Given the description of an element on the screen output the (x, y) to click on. 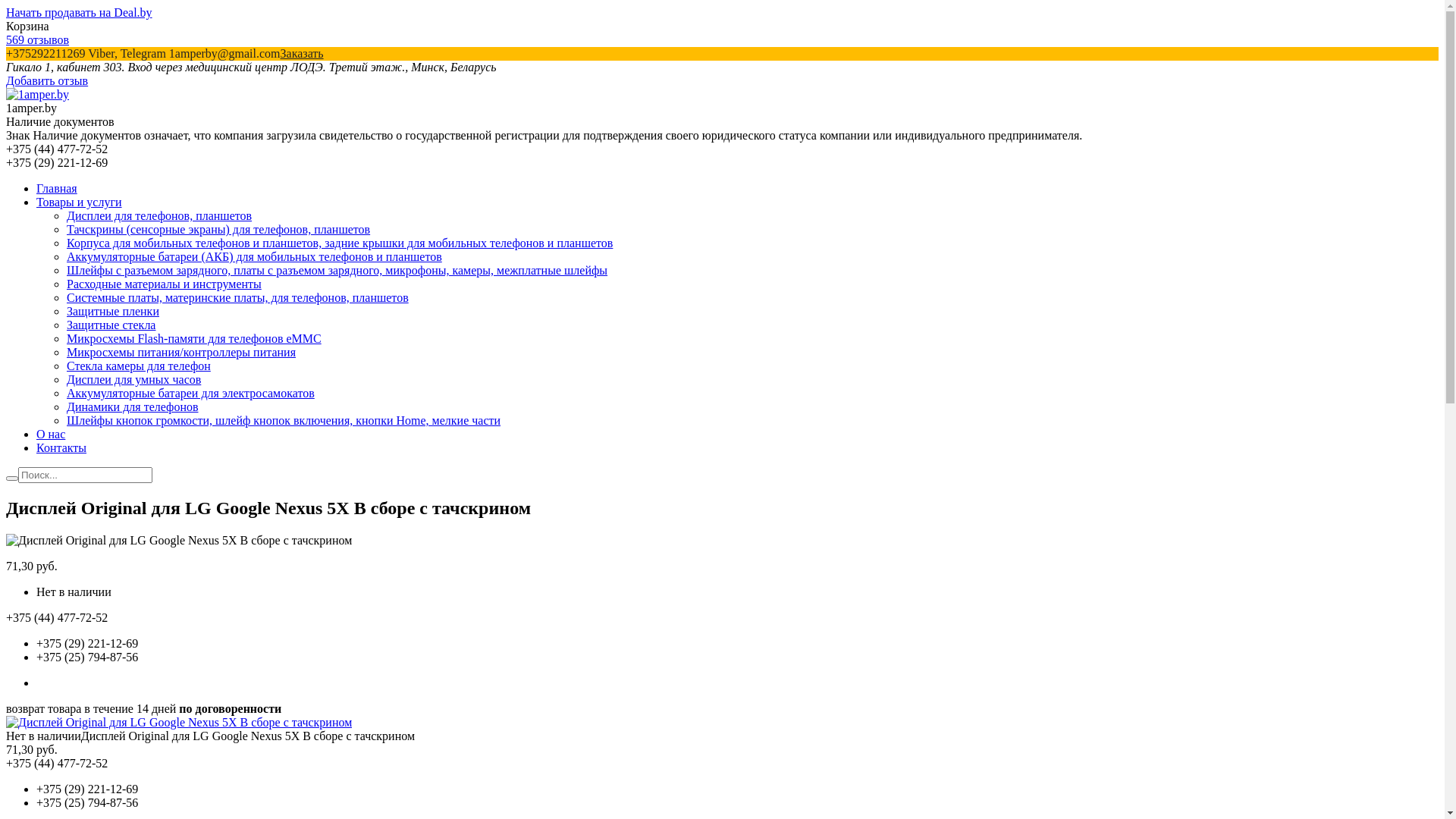
1amper.by Element type: hover (37, 93)
